Given the description of an element on the screen output the (x, y) to click on. 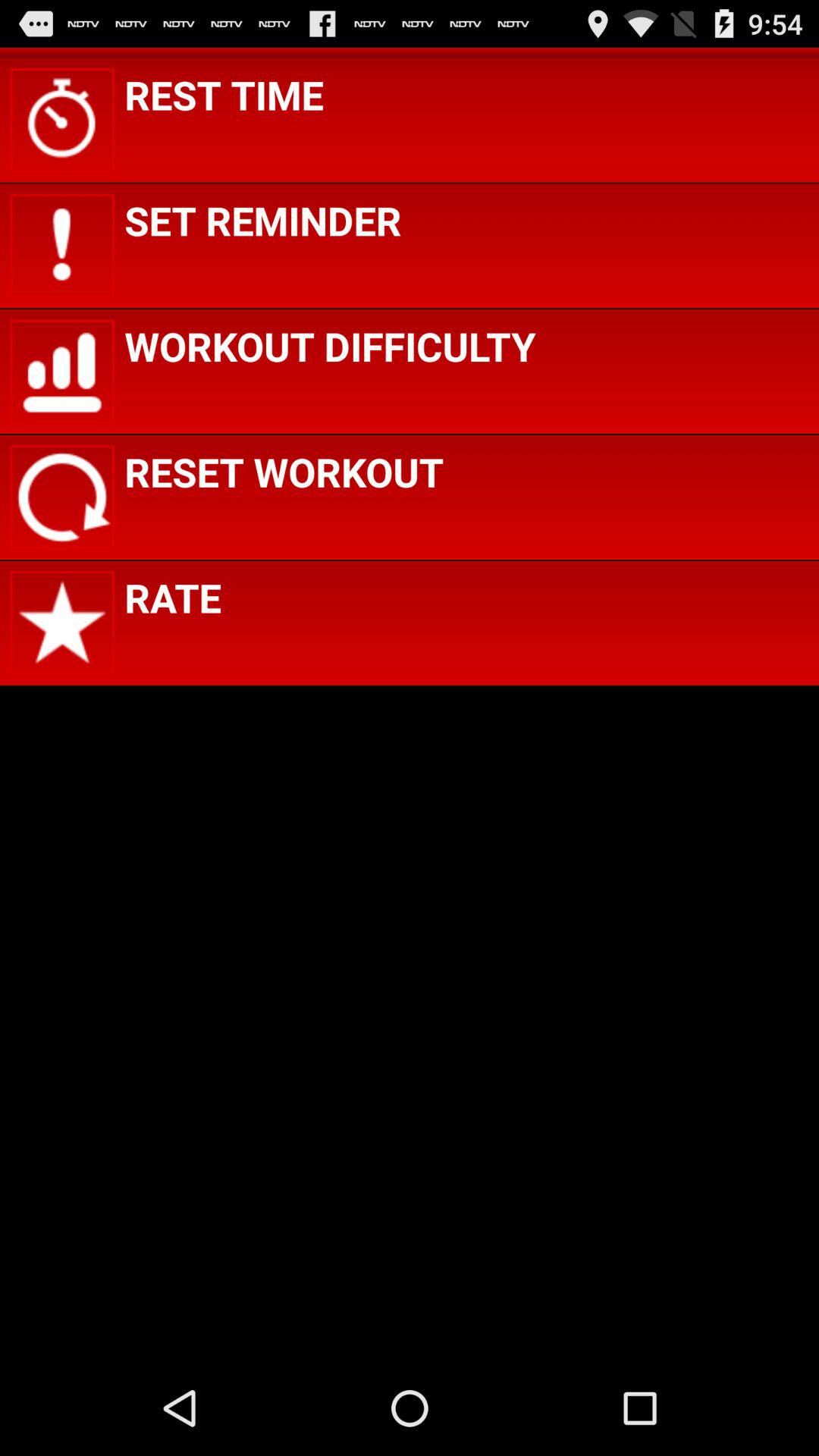
click the workout difficulty (329, 345)
